Given the description of an element on the screen output the (x, y) to click on. 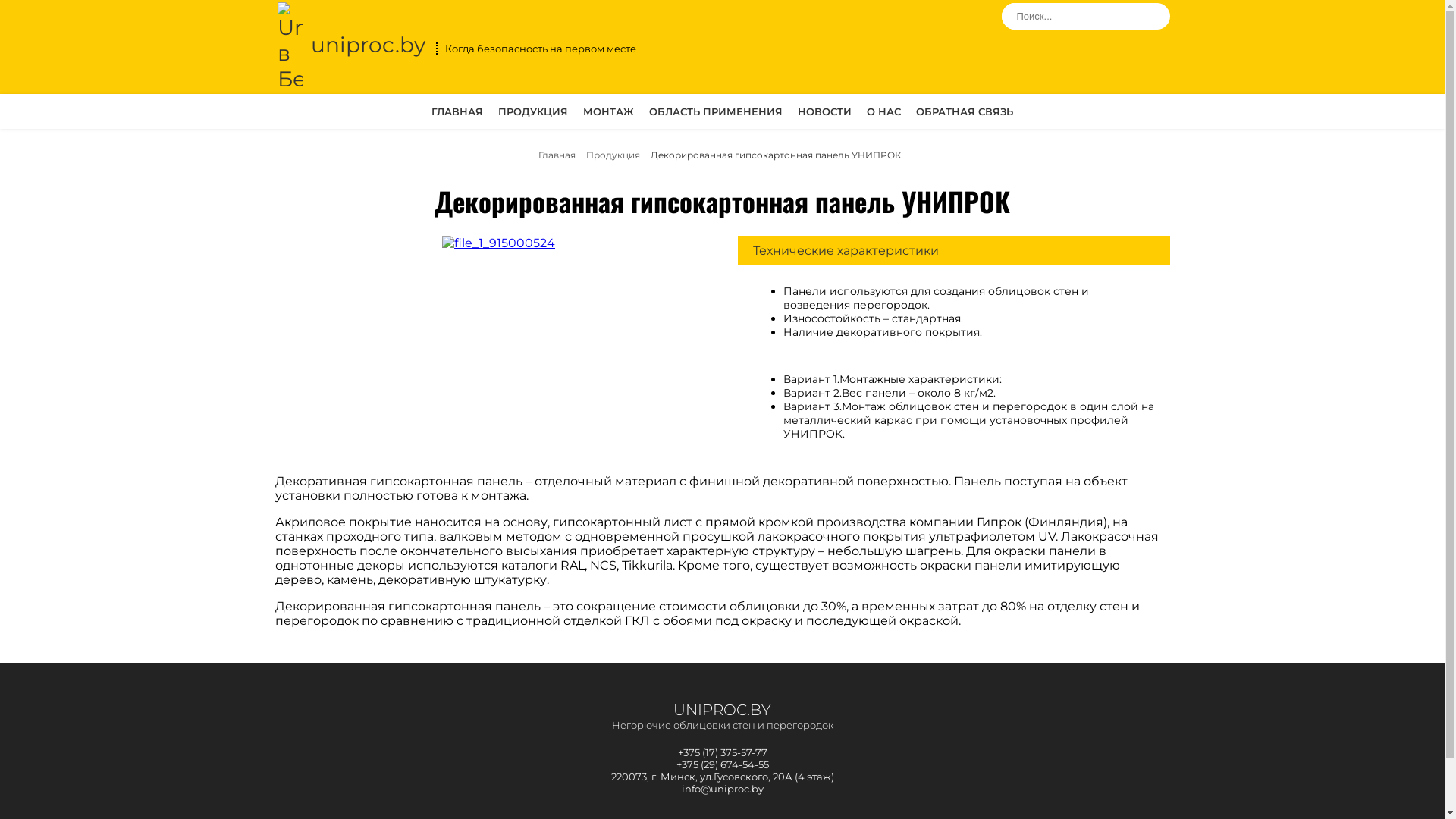
uniproc.by Element type: text (349, 47)
+375 (29) 674-54-55 Element type: text (721, 764)
info@uniproc.by Element type: text (721, 788)
+375 (17) 375-57-77 Element type: text (721, 752)
file_1_915000524 Element type: hover (498, 242)
